Given the description of an element on the screen output the (x, y) to click on. 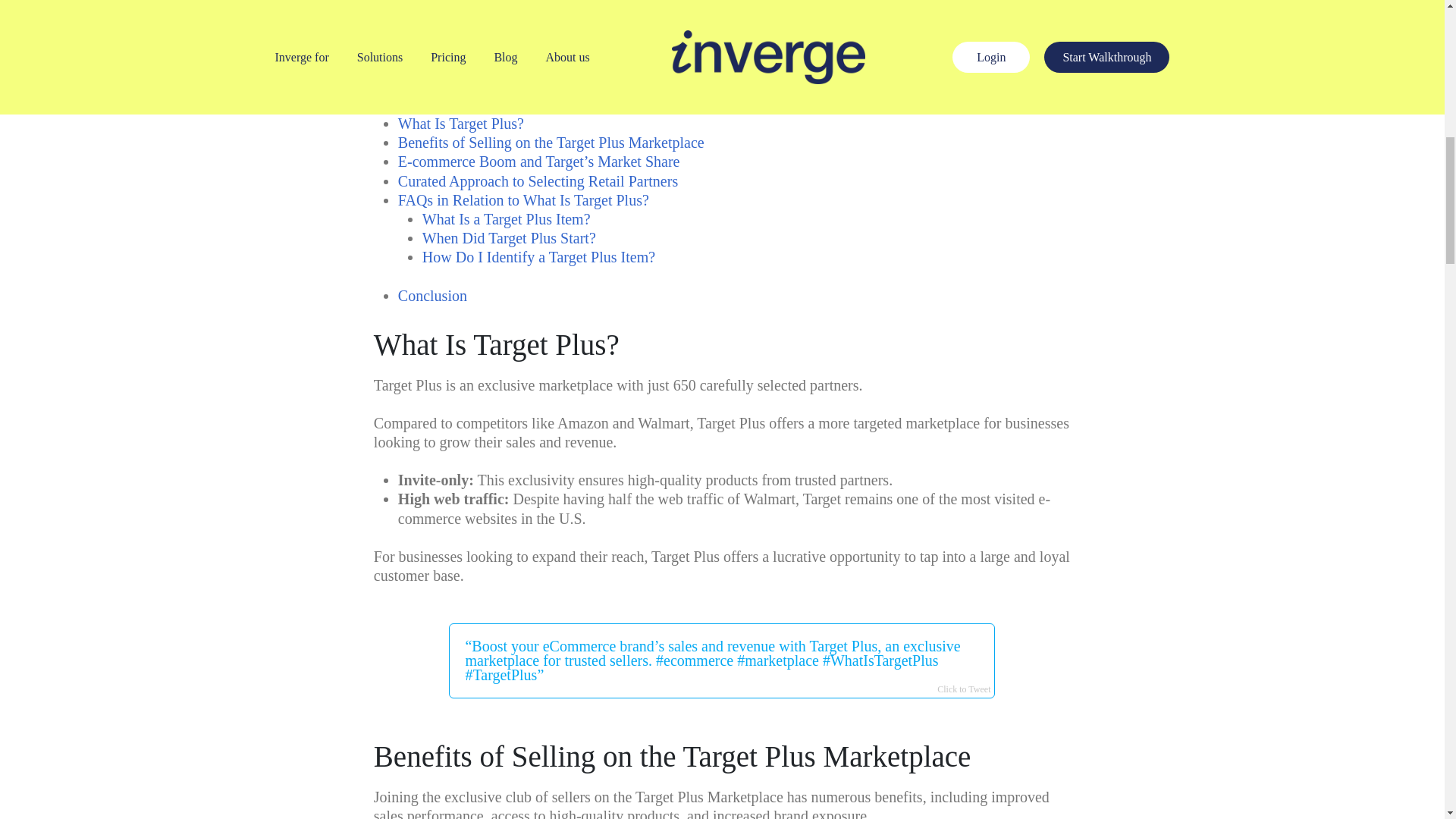
What Is Target Plus? (460, 123)
Sales (520, 442)
 Customer (401, 575)
